Given the description of an element on the screen output the (x, y) to click on. 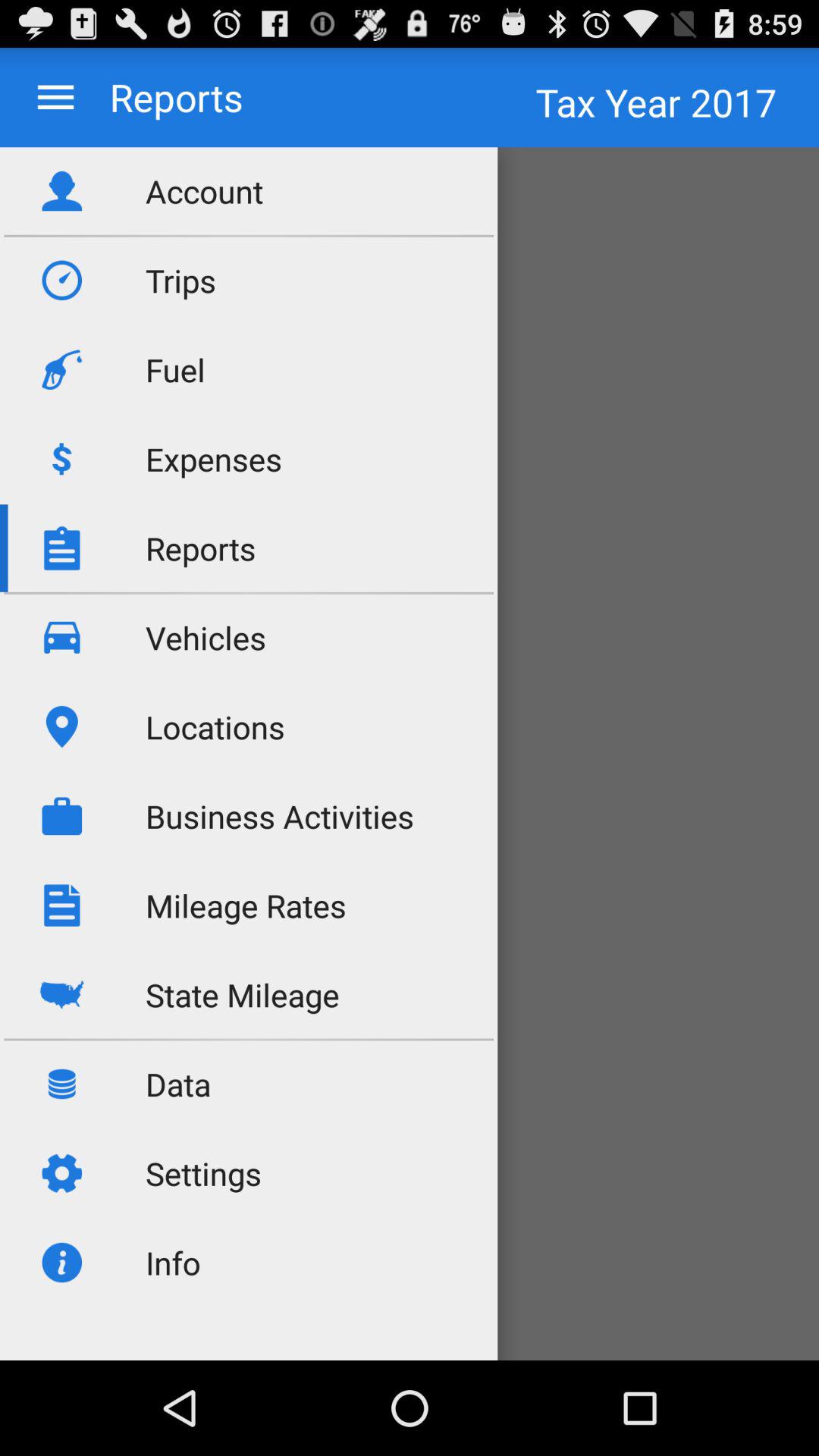
turn off the icon next to the reports app (55, 97)
